Given the description of an element on the screen output the (x, y) to click on. 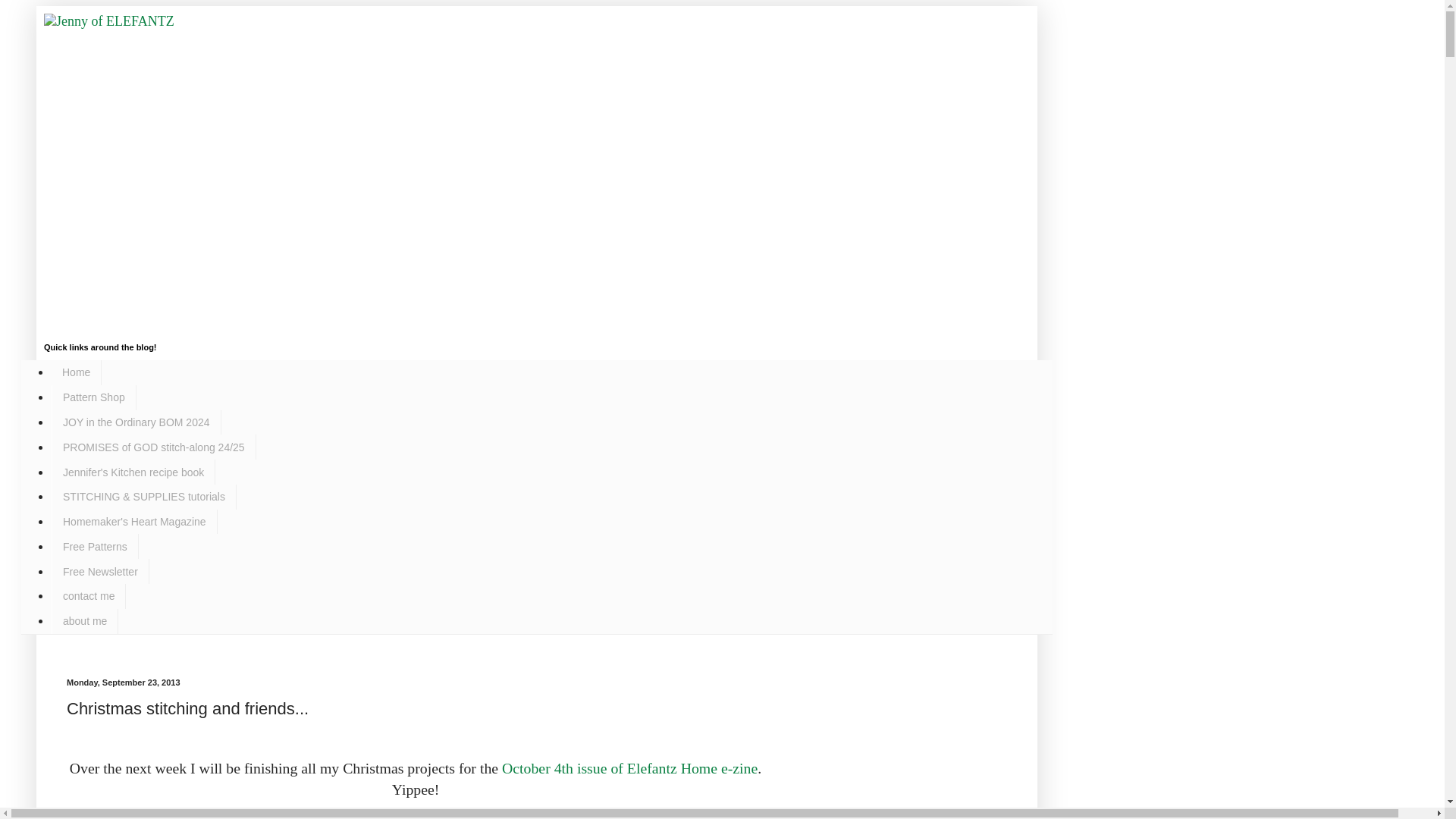
Home (75, 372)
Pattern Shop (93, 397)
Jennifer's Kitchen recipe book (132, 471)
Free Newsletter (99, 570)
contact me (87, 596)
JOY in the Ordinary BOM 2024 (135, 422)
Free Patterns (94, 545)
about me (83, 621)
October 4th issue of Elefantz Home e-zine (629, 768)
Homemaker's Heart Magazine (133, 521)
